Given the description of an element on the screen output the (x, y) to click on. 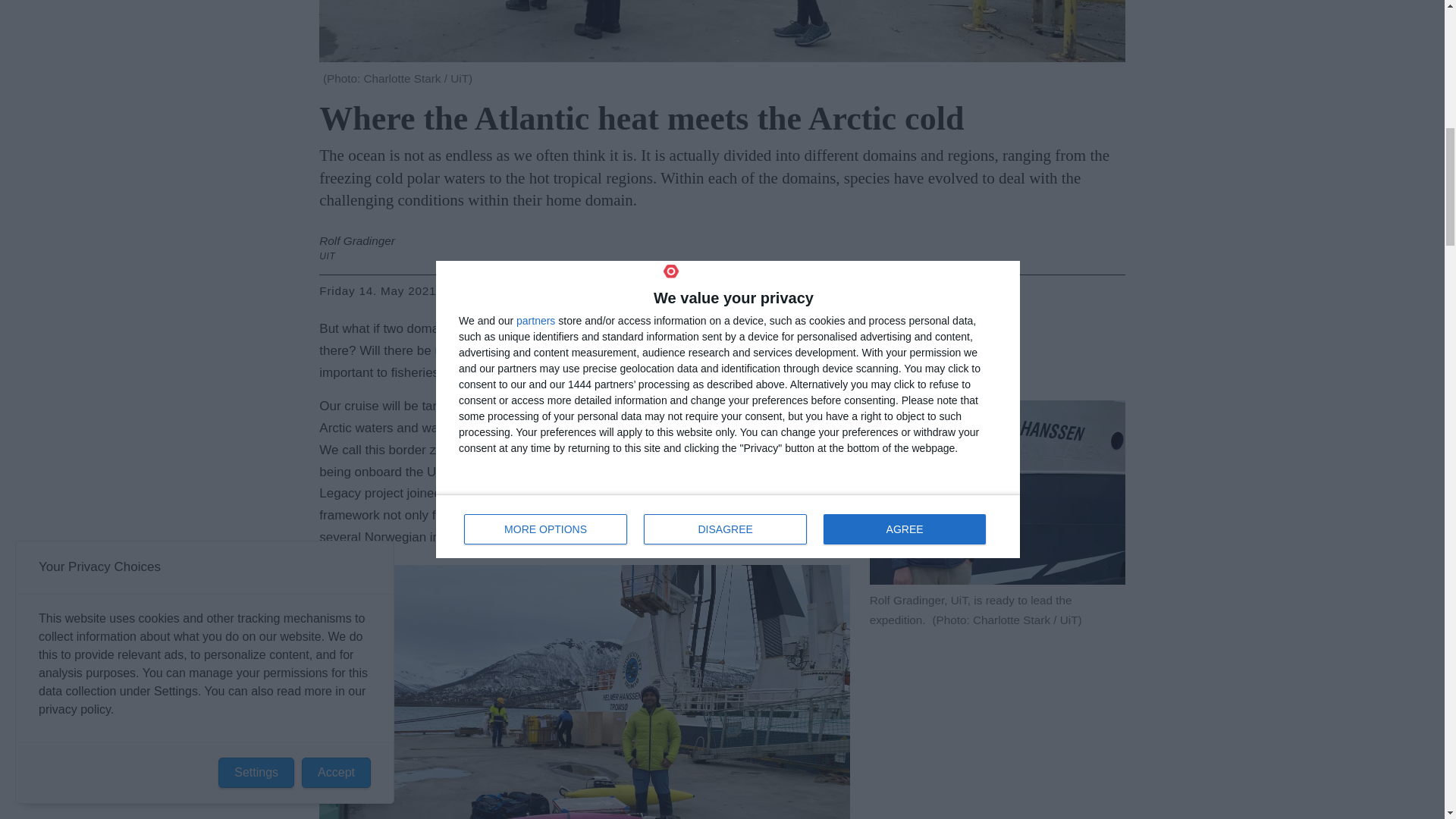
Where the Atlantic heat meets the Arctic cold (721, 31)
Rolf Gradinger, UiT, is ready to lead the expedition. (997, 492)
 friday 14. May 2021 - 12:20 (399, 291)
